Given the description of an element on the screen output the (x, y) to click on. 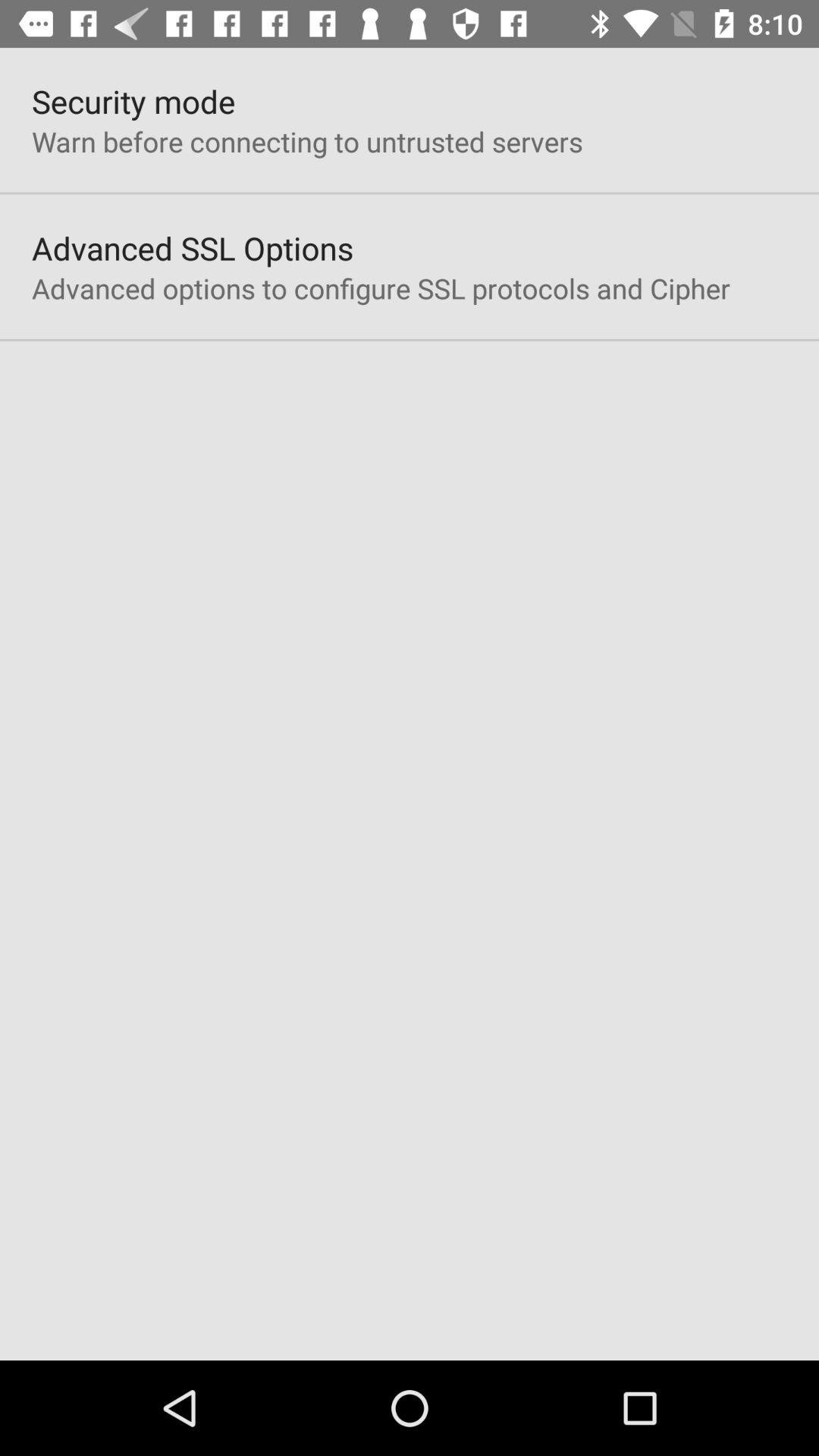
turn off app above the advanced ssl options (306, 141)
